Given the description of an element on the screen output the (x, y) to click on. 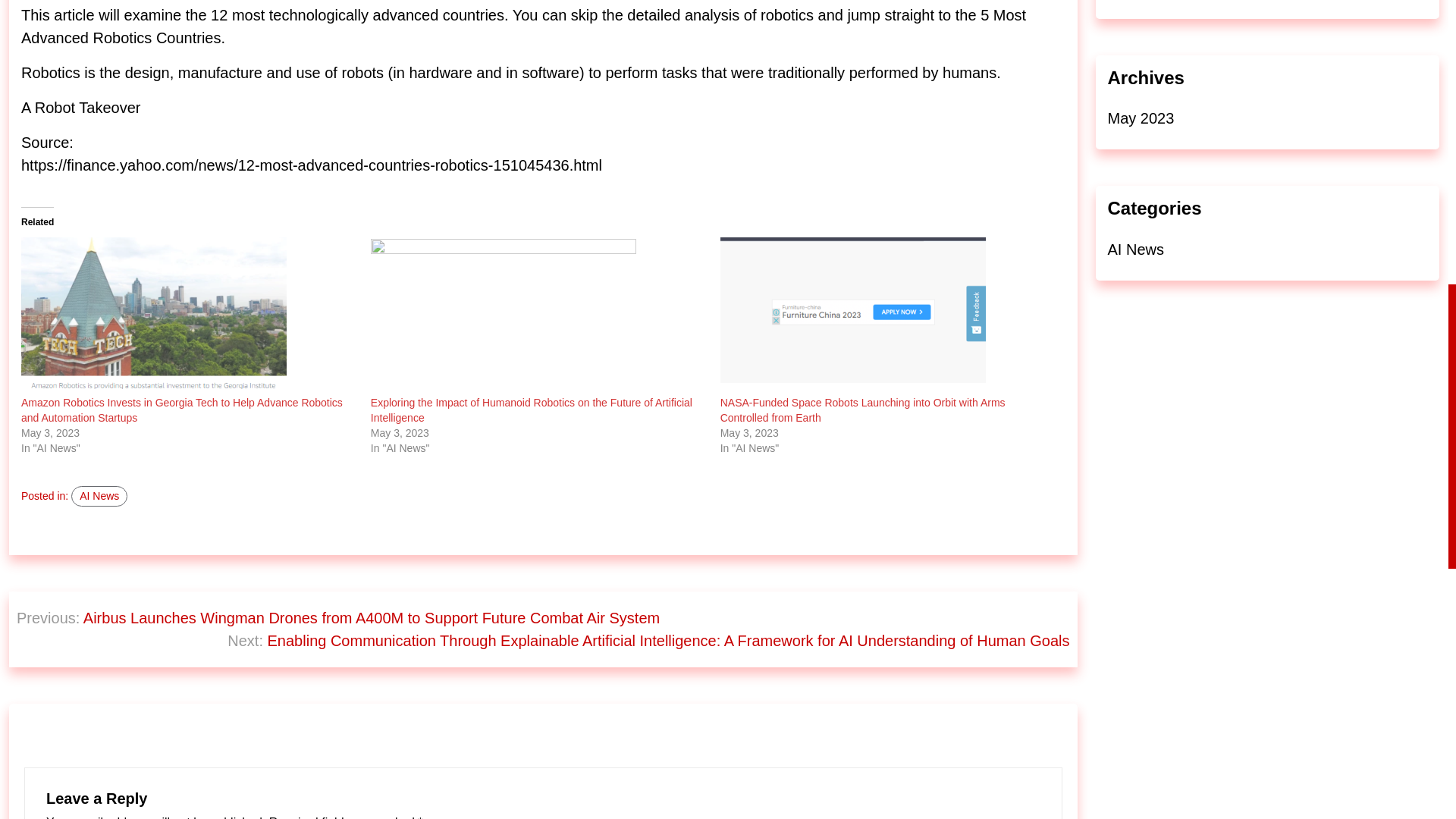
AI News (1134, 249)
AI News (99, 496)
May 2023 (1139, 118)
